Given the description of an element on the screen output the (x, y) to click on. 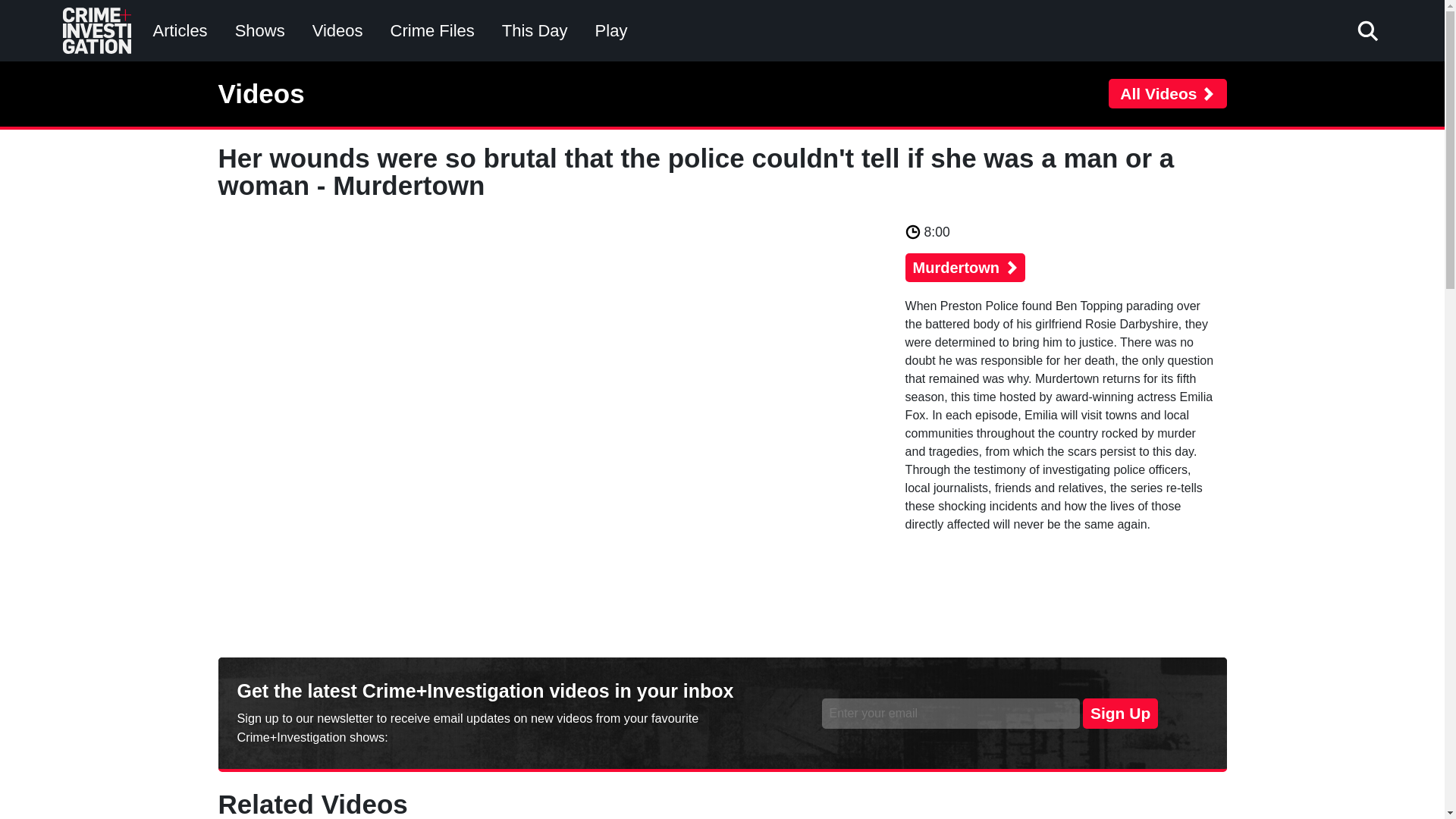
All Videos (1166, 93)
Play (611, 30)
Shows (259, 30)
Articles (180, 30)
Search (1007, 86)
Crime Files (432, 30)
Sign Up (1120, 713)
Videos (337, 30)
Murdertown (965, 267)
This Day (534, 30)
Sign Up (1120, 713)
Home (93, 16)
